Given the description of an element on the screen output the (x, y) to click on. 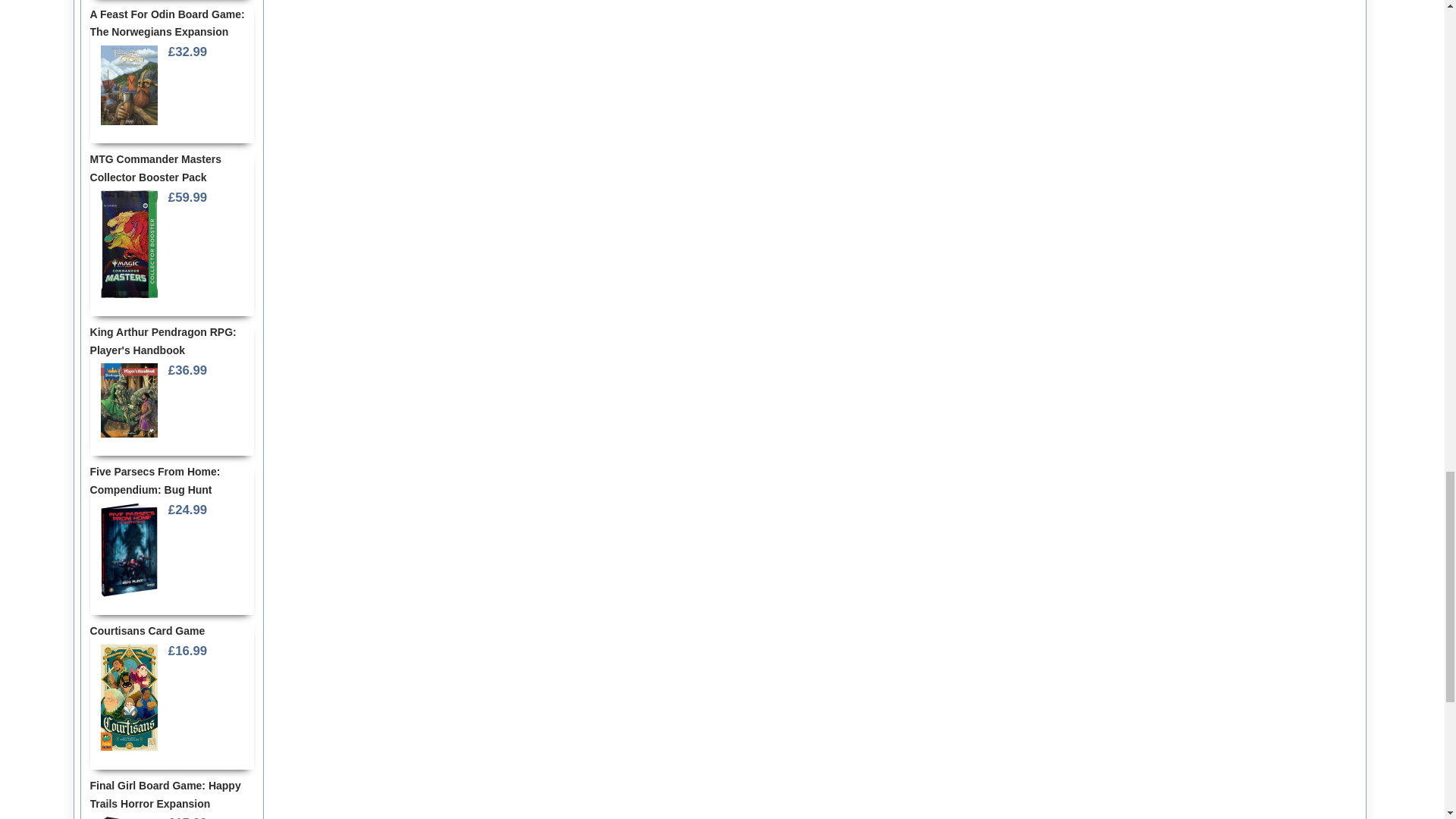
Final Girl Board Game: Happy Trails Horror Expansion (128, 816)
Five Parsecs From Home: Compendium: Bug Hunt (128, 549)
A Feast For Odin Board Game: The Norwegians Expansion (128, 84)
Courtisans Card Game (128, 697)
MTG Commander Masters Collector Booster Pack (128, 244)
King Arthur Pendragon RPG: Player's Handbook (128, 400)
